Given the description of an element on the screen output the (x, y) to click on. 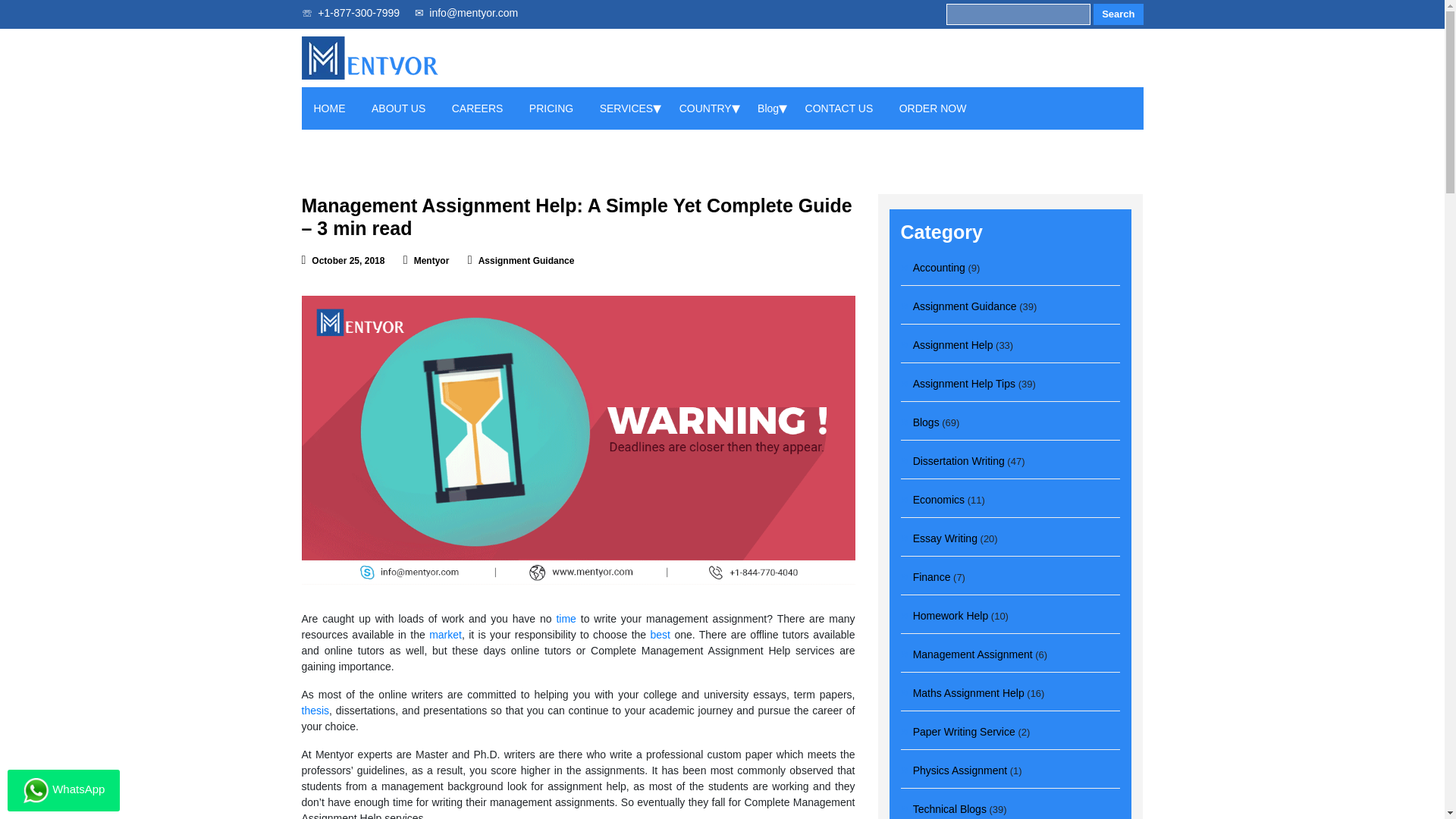
Search (1117, 14)
HOME (330, 107)
CONTACT US (839, 107)
time (567, 618)
Search (1117, 14)
